Given the description of an element on the screen output the (x, y) to click on. 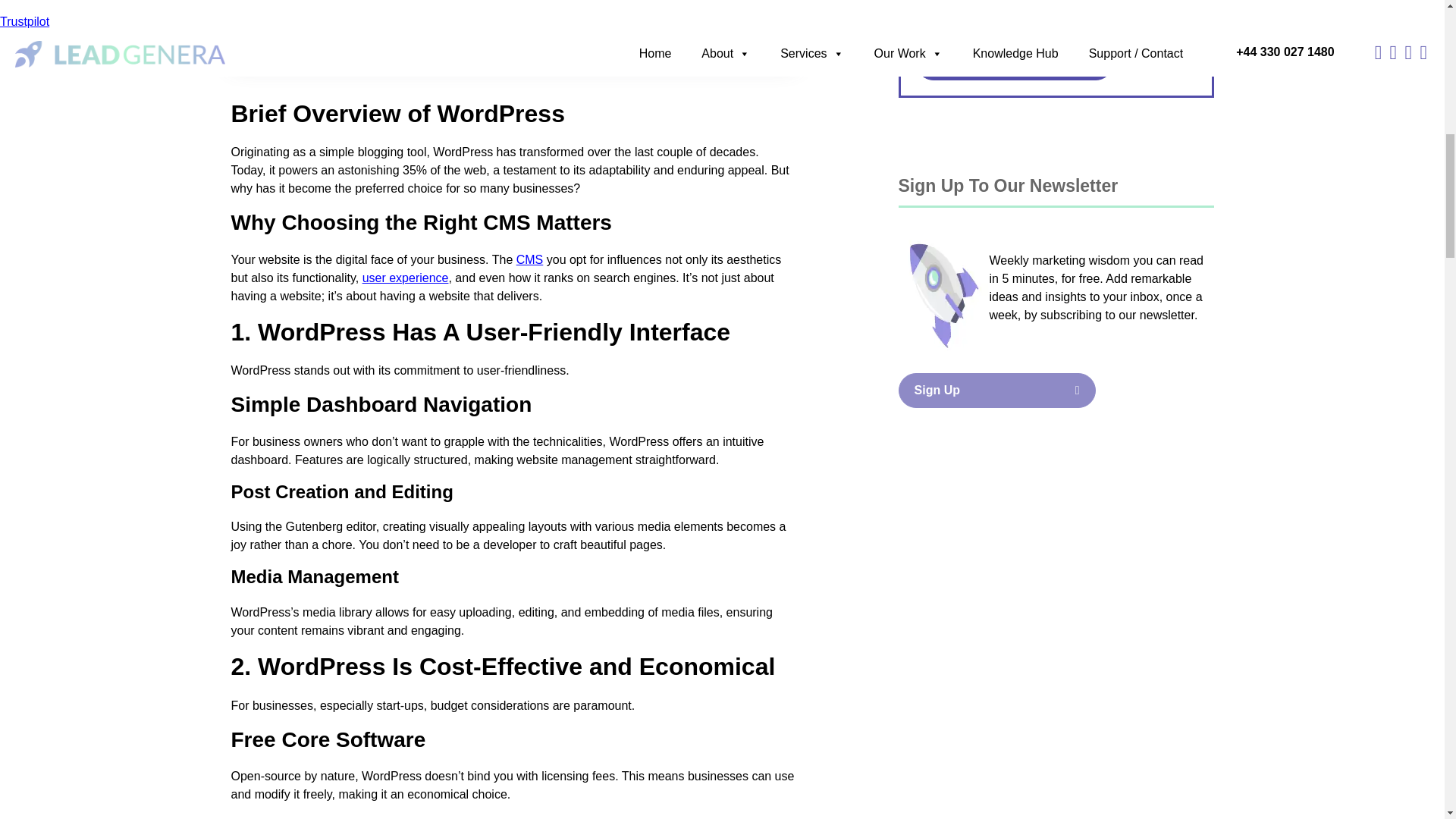
CMS (529, 259)
user experience (405, 277)
